Given the description of an element on the screen output the (x, y) to click on. 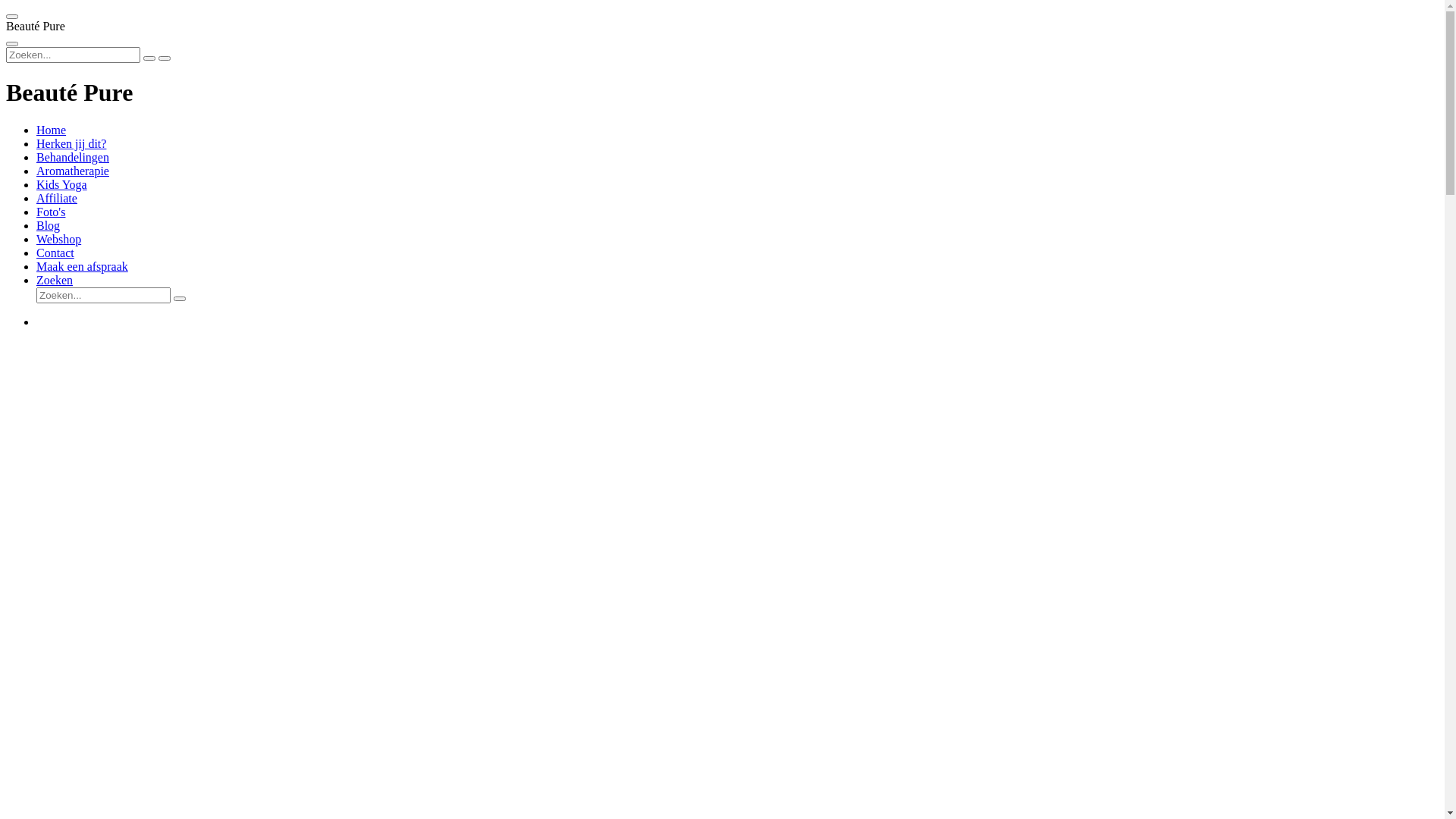
Maak een afspraak Element type: text (82, 266)
Kids Yoga Element type: text (61, 184)
Aromatherapie Element type: text (72, 170)
Home Element type: text (50, 129)
Blog Element type: text (47, 225)
Herken jij dit? Element type: text (71, 143)
Contact Element type: text (55, 252)
Webshop Element type: text (58, 238)
Zoeken Element type: text (54, 279)
Behandelingen Element type: text (72, 156)
Affiliate Element type: text (56, 197)
Foto's Element type: text (50, 211)
